Given the description of an element on the screen output the (x, y) to click on. 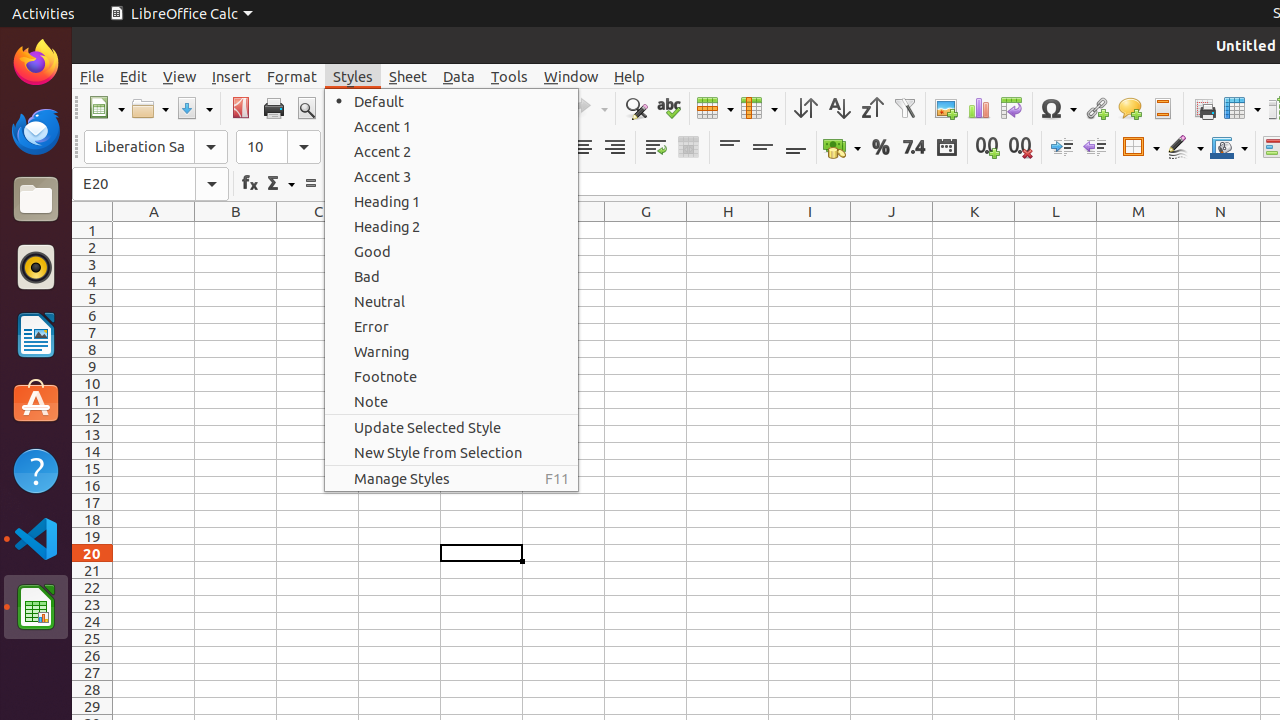
Hyperlink Element type: toggle-button (1096, 108)
Increase Element type: push-button (1061, 147)
Print Element type: push-button (273, 108)
Edit Element type: menu (133, 76)
Thunderbird Mail Element type: push-button (36, 131)
